Given the description of an element on the screen output the (x, y) to click on. 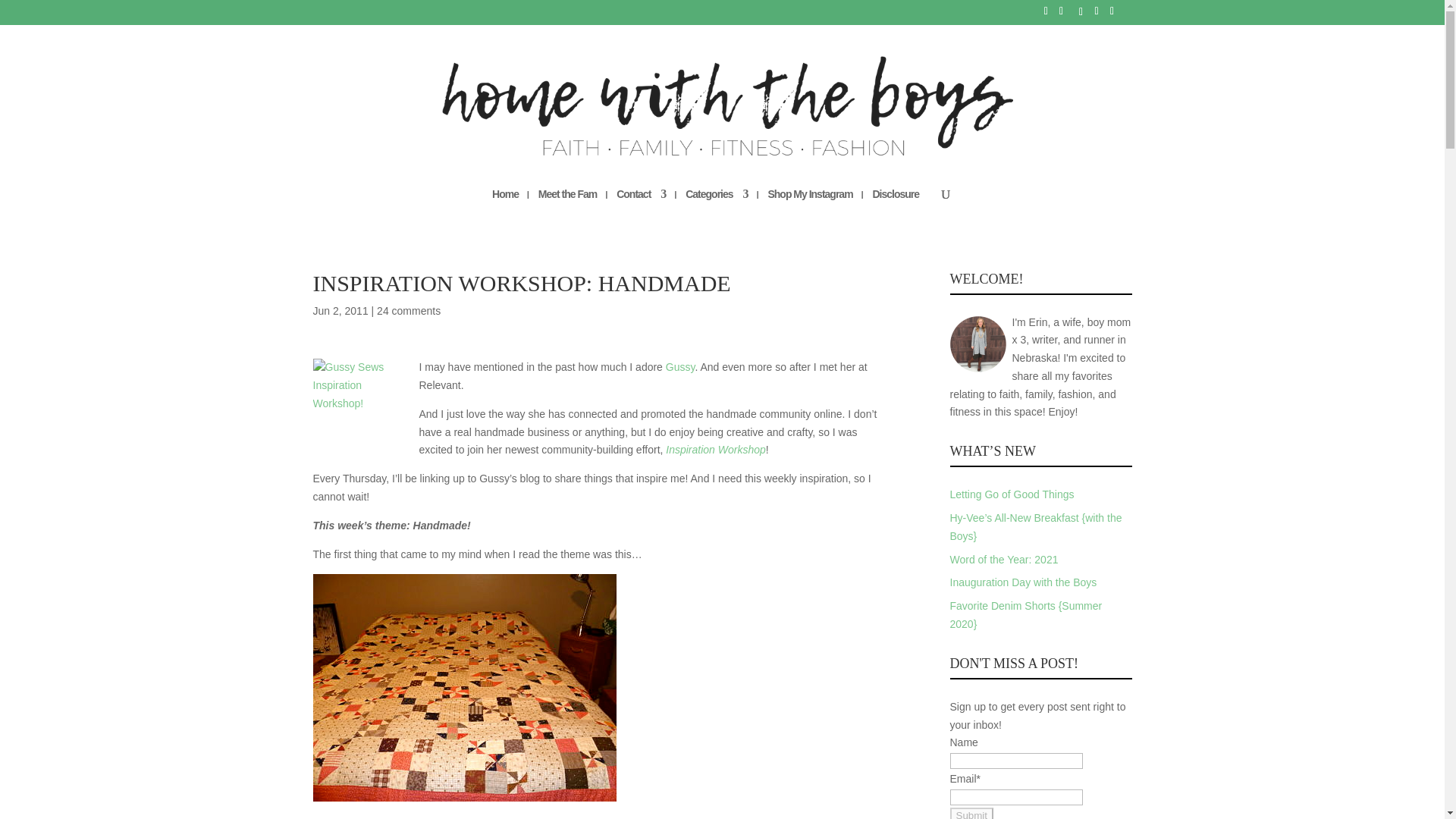
Categories (716, 207)
Contact (640, 207)
Submit (970, 813)
Gussy Sews (360, 405)
Shop My Instagram (809, 207)
Disclosure (895, 207)
Meet the Fam (567, 207)
